Given the description of an element on the screen output the (x, y) to click on. 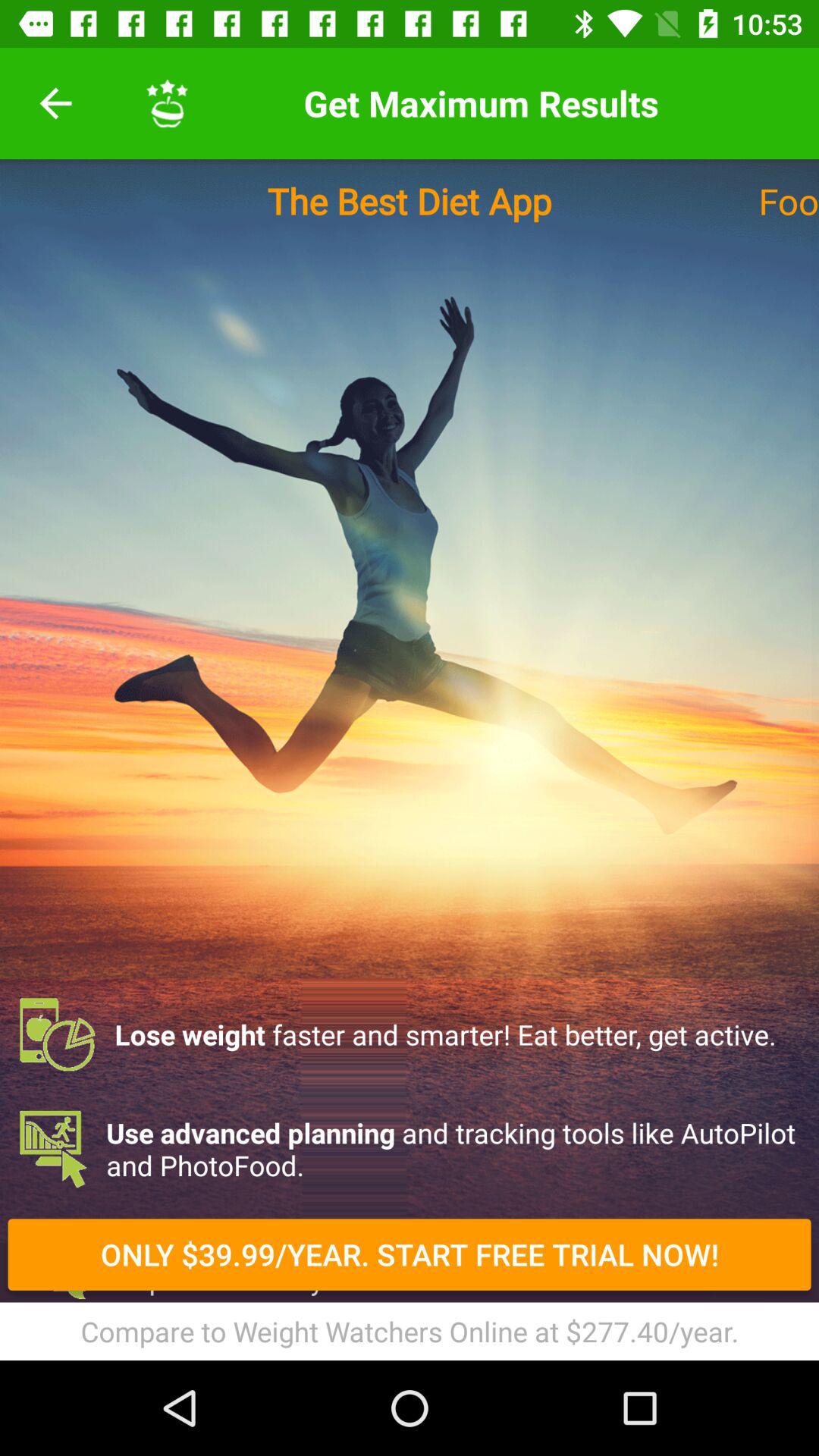
turn off item below lose weight faster icon (409, 1148)
